Given the description of an element on the screen output the (x, y) to click on. 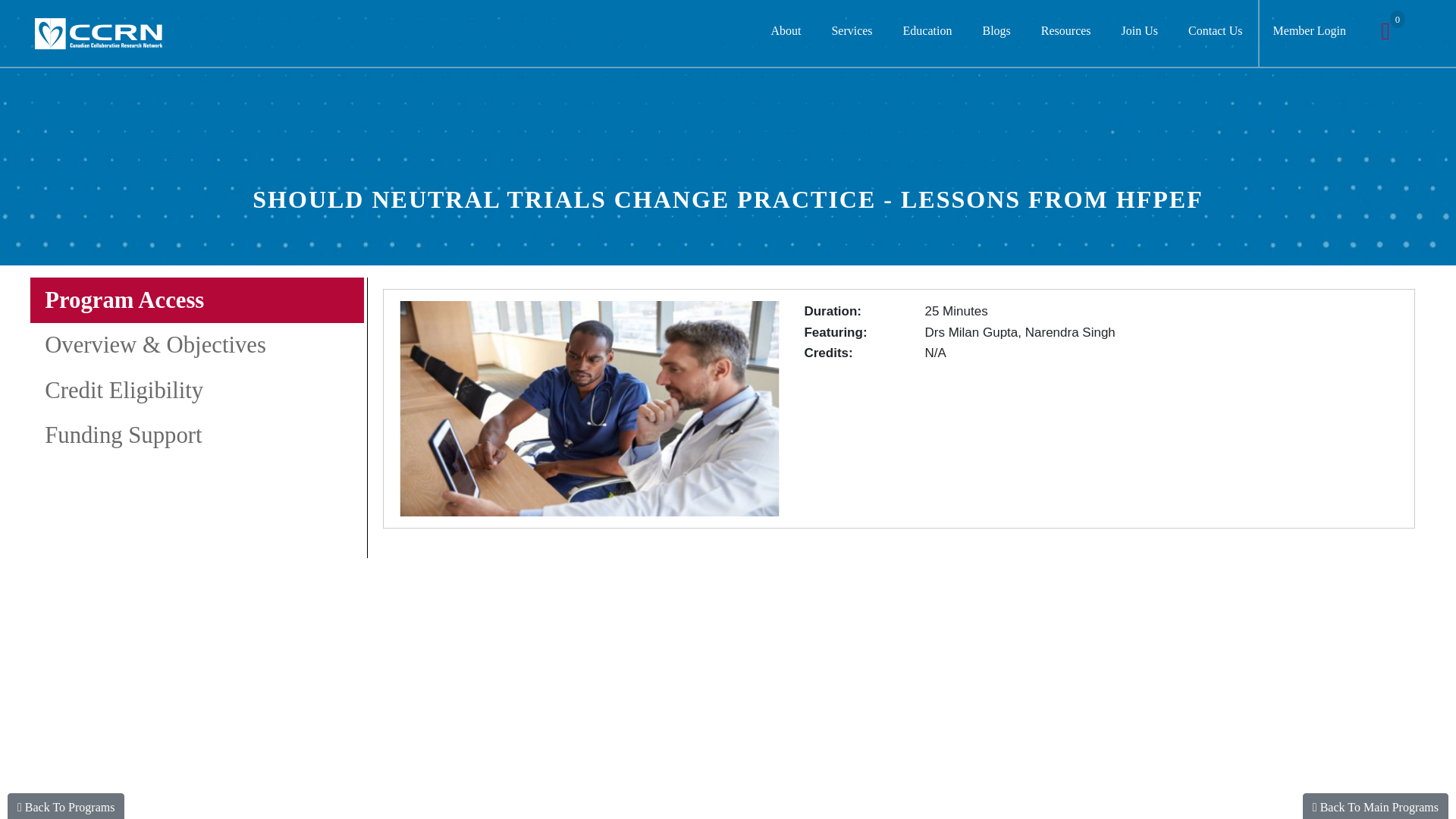
Services (850, 33)
Join Us (1139, 33)
Contact Us (1215, 33)
CLICK HERE TO LISTEN (1103, 387)
CLICK HERE TO LISTEN (588, 408)
About (785, 33)
Member Login (1309, 33)
Education (928, 33)
Resources (1066, 33)
